Given the description of an element on the screen output the (x, y) to click on. 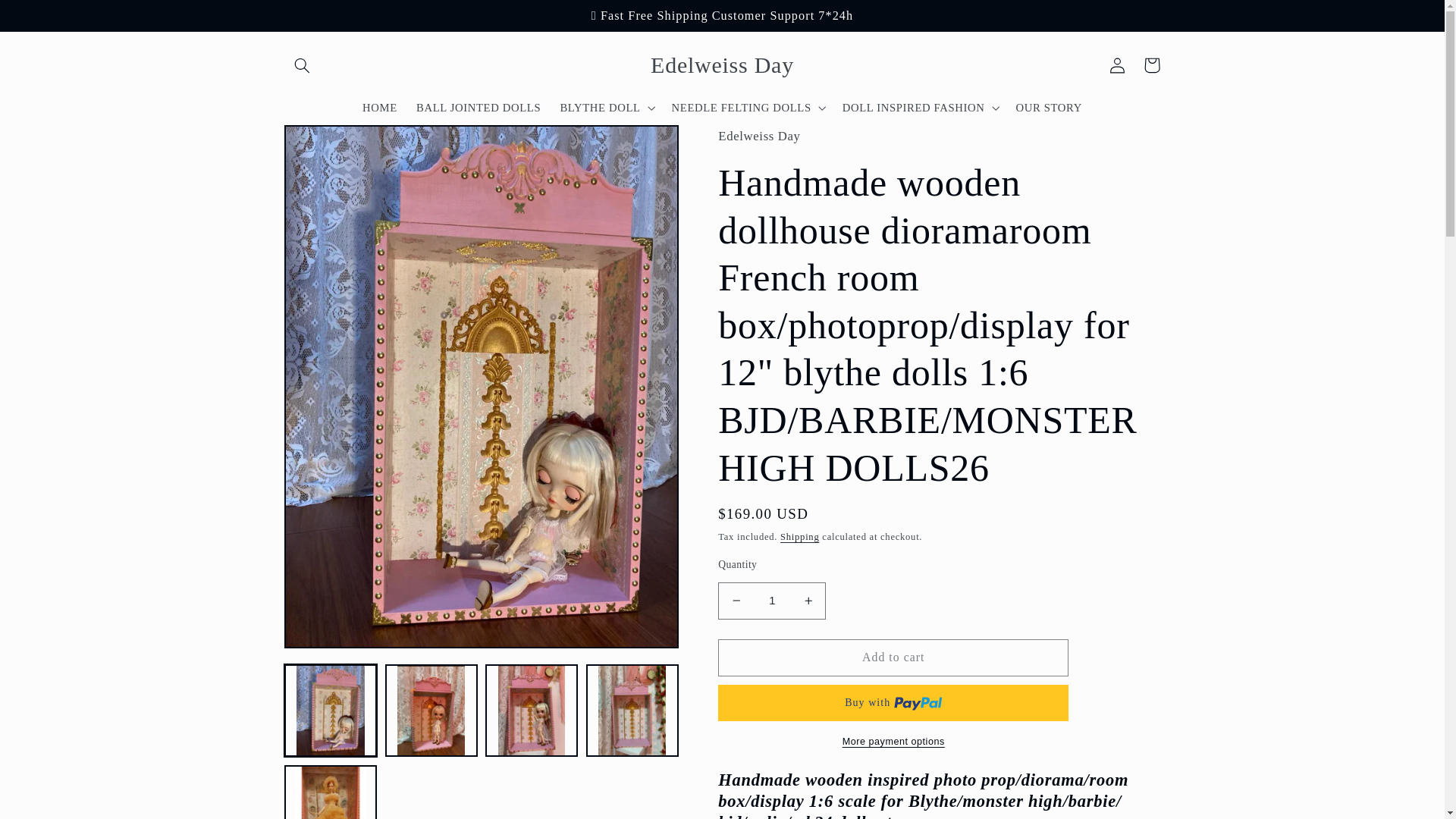
BALL JOINTED DOLLS (478, 108)
1 (771, 600)
Skip to content (48, 18)
HOME (379, 108)
Edelweiss Day (722, 65)
